Given the description of an element on the screen output the (x, y) to click on. 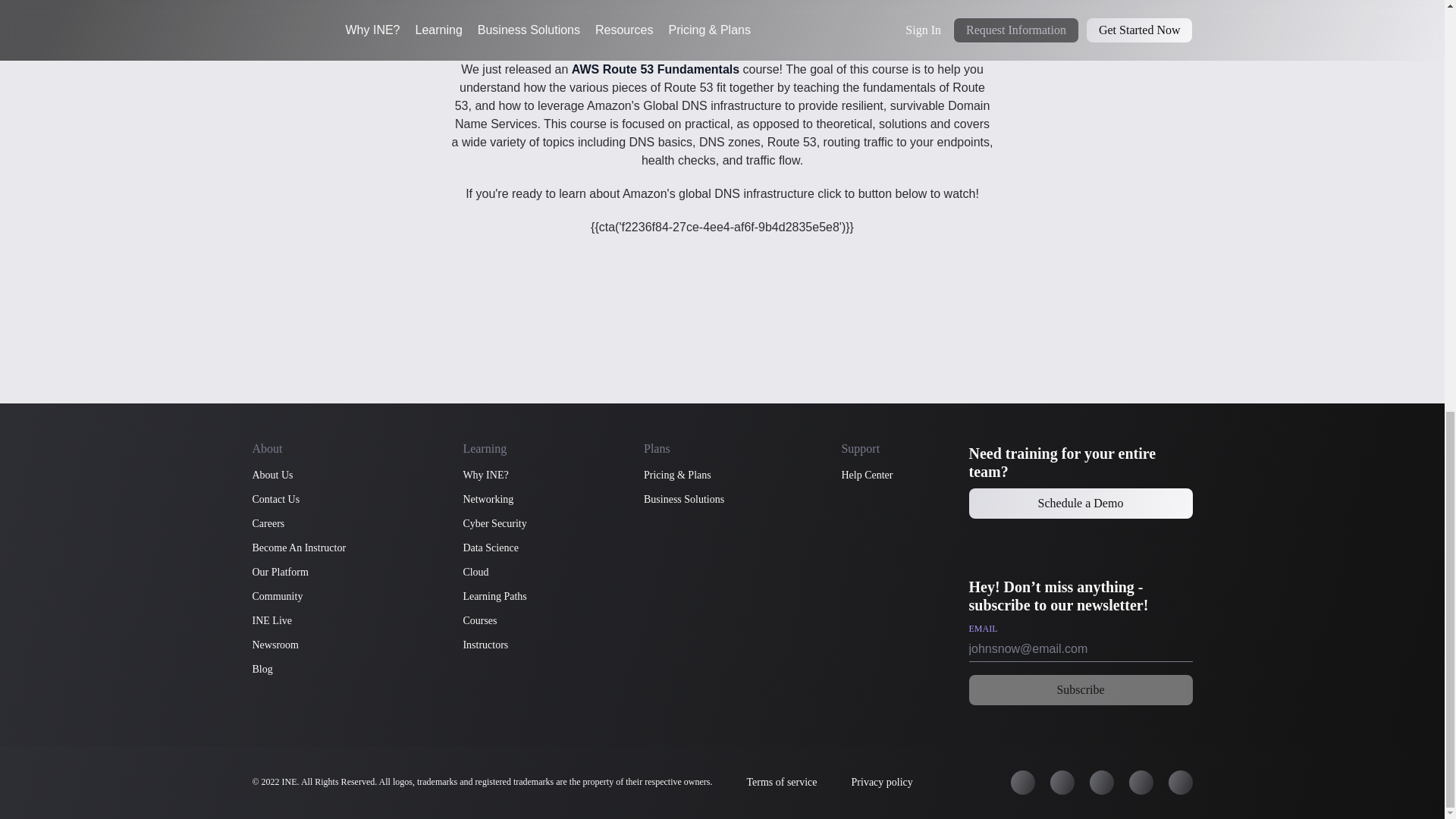
Subscribe (1080, 689)
Schedule a Demo (1080, 503)
